Given the description of an element on the screen output the (x, y) to click on. 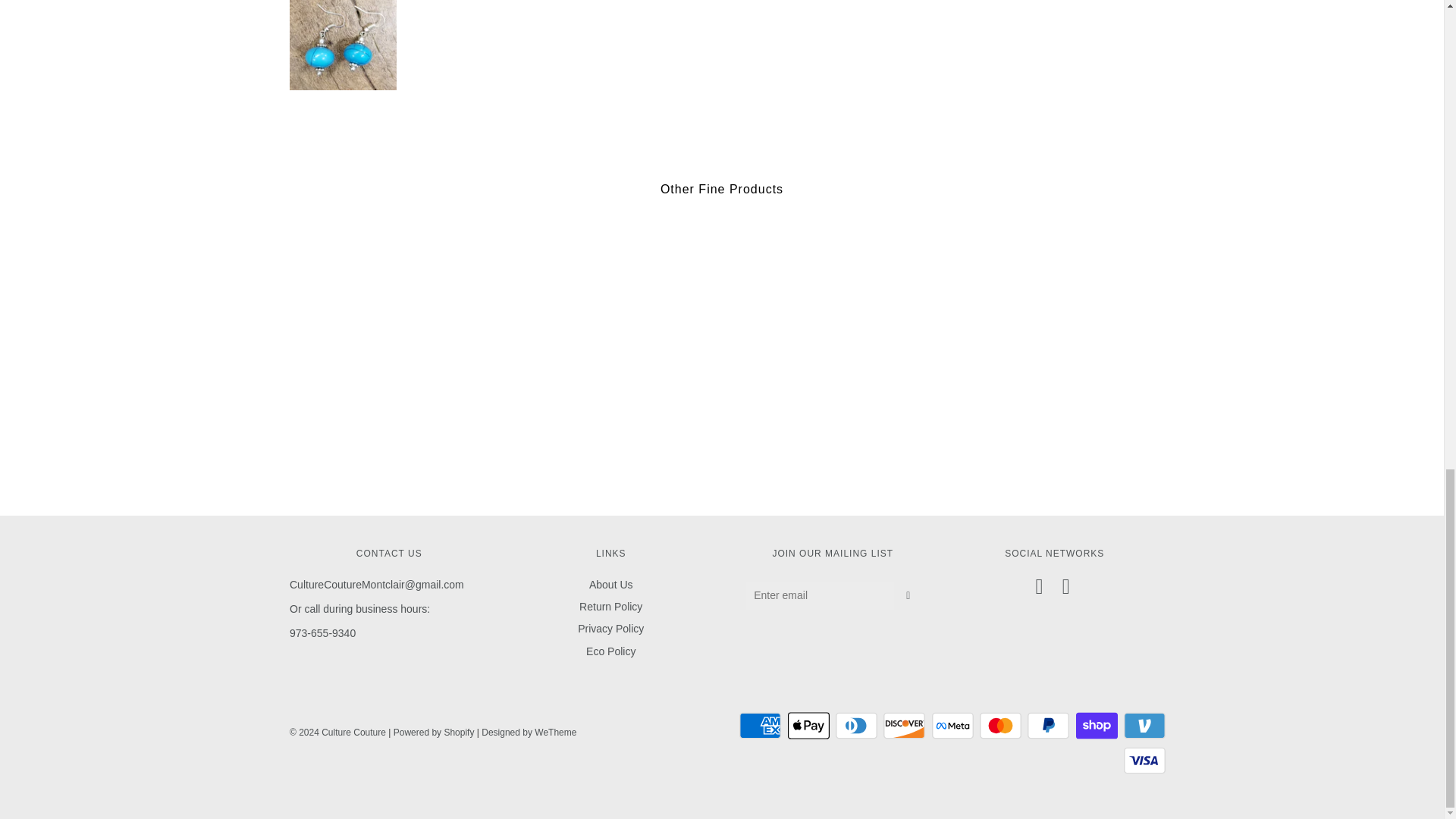
Discover (903, 725)
Diners Club (856, 725)
Apple Pay (808, 725)
Venmo (1145, 725)
Meta Pay (952, 725)
Shop Pay (1096, 725)
American Express (759, 725)
Visa (1145, 760)
Nepalese Beaded Earring, Assorted Styles (342, 45)
Mastercard (1000, 725)
